Given the description of an element on the screen output the (x, y) to click on. 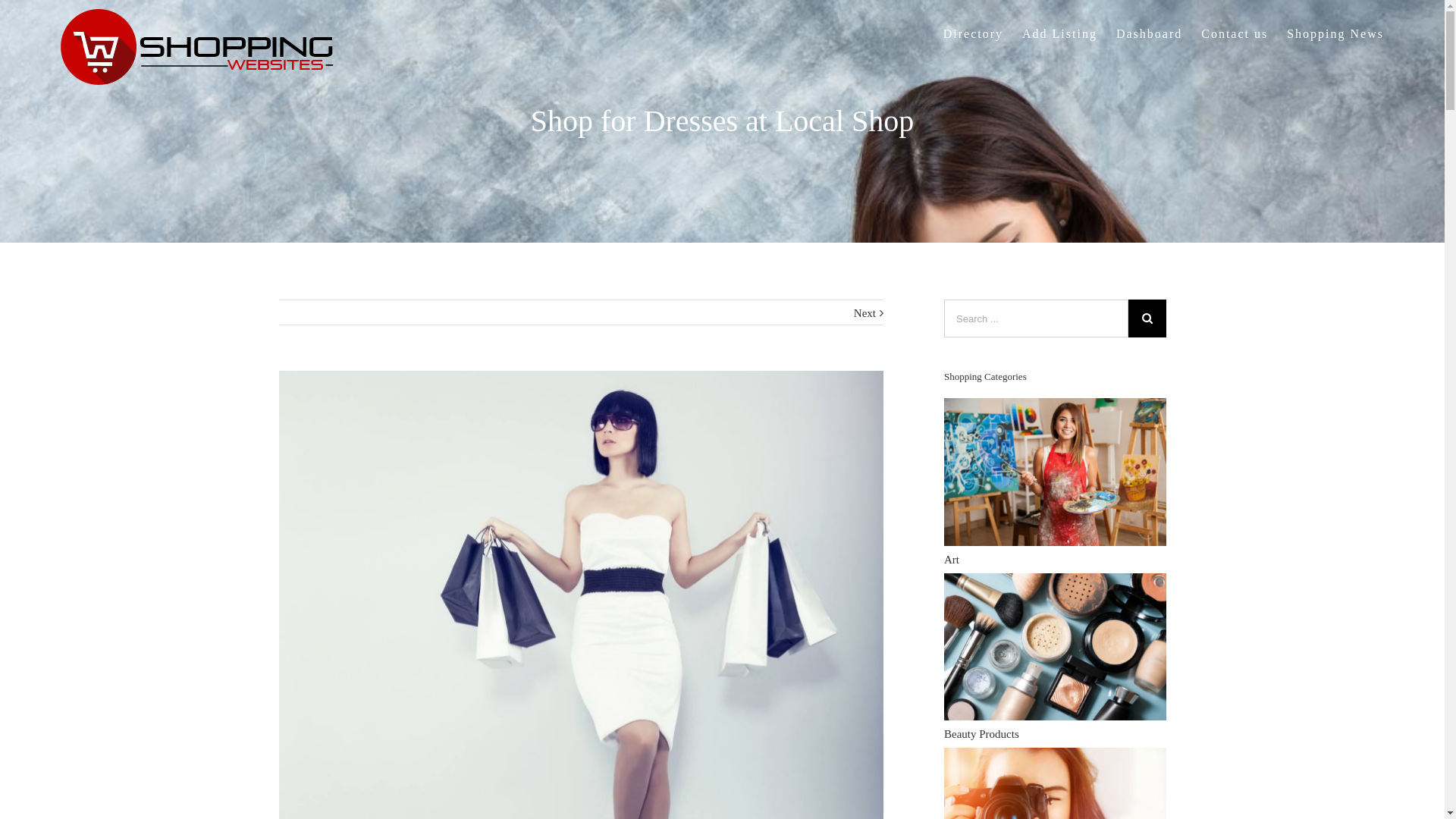
Directory Element type: text (973, 32)
Shopping News Element type: text (1334, 32)
Contact us Element type: text (1234, 32)
Dashboard Element type: text (1149, 32)
Beauty Products Element type: text (1057, 690)
Next Element type: text (864, 313)
Art Element type: text (1057, 514)
Add Listing Element type: text (1059, 32)
